Given the description of an element on the screen output the (x, y) to click on. 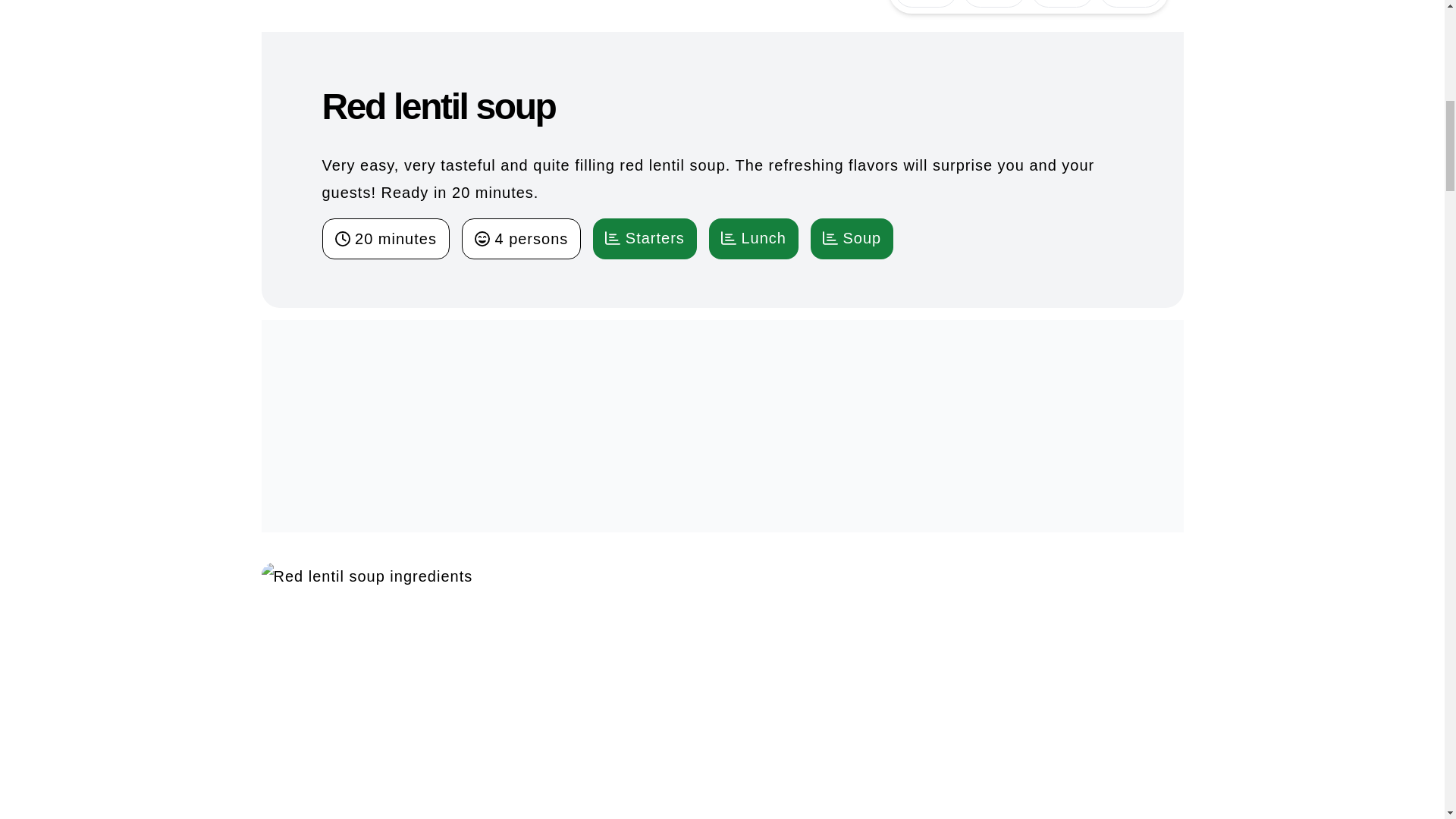
Soup (851, 237)
Starters (644, 237)
Lunch (753, 237)
